Given the description of an element on the screen output the (x, y) to click on. 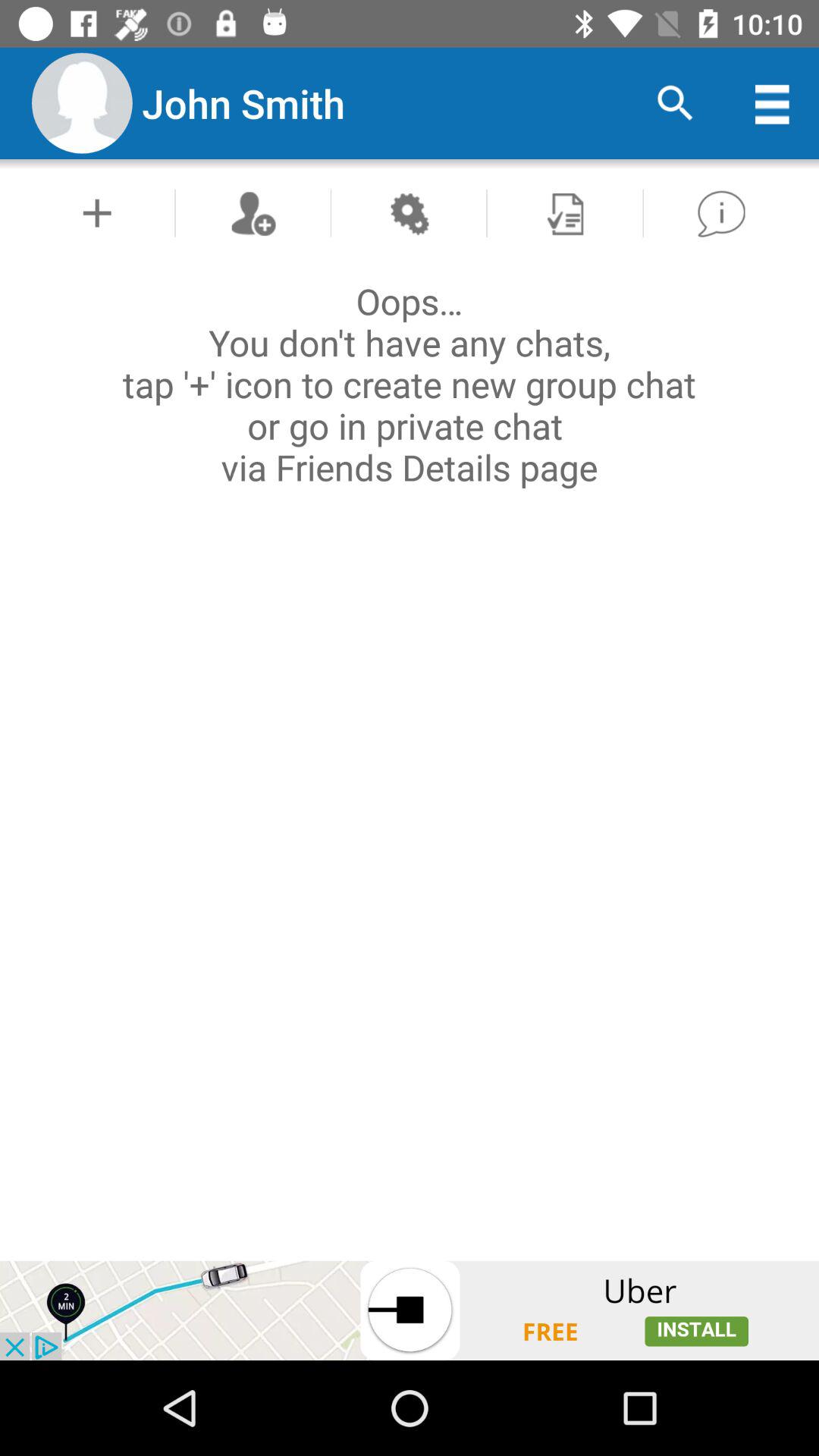
go back (721, 213)
